Given the description of an element on the screen output the (x, y) to click on. 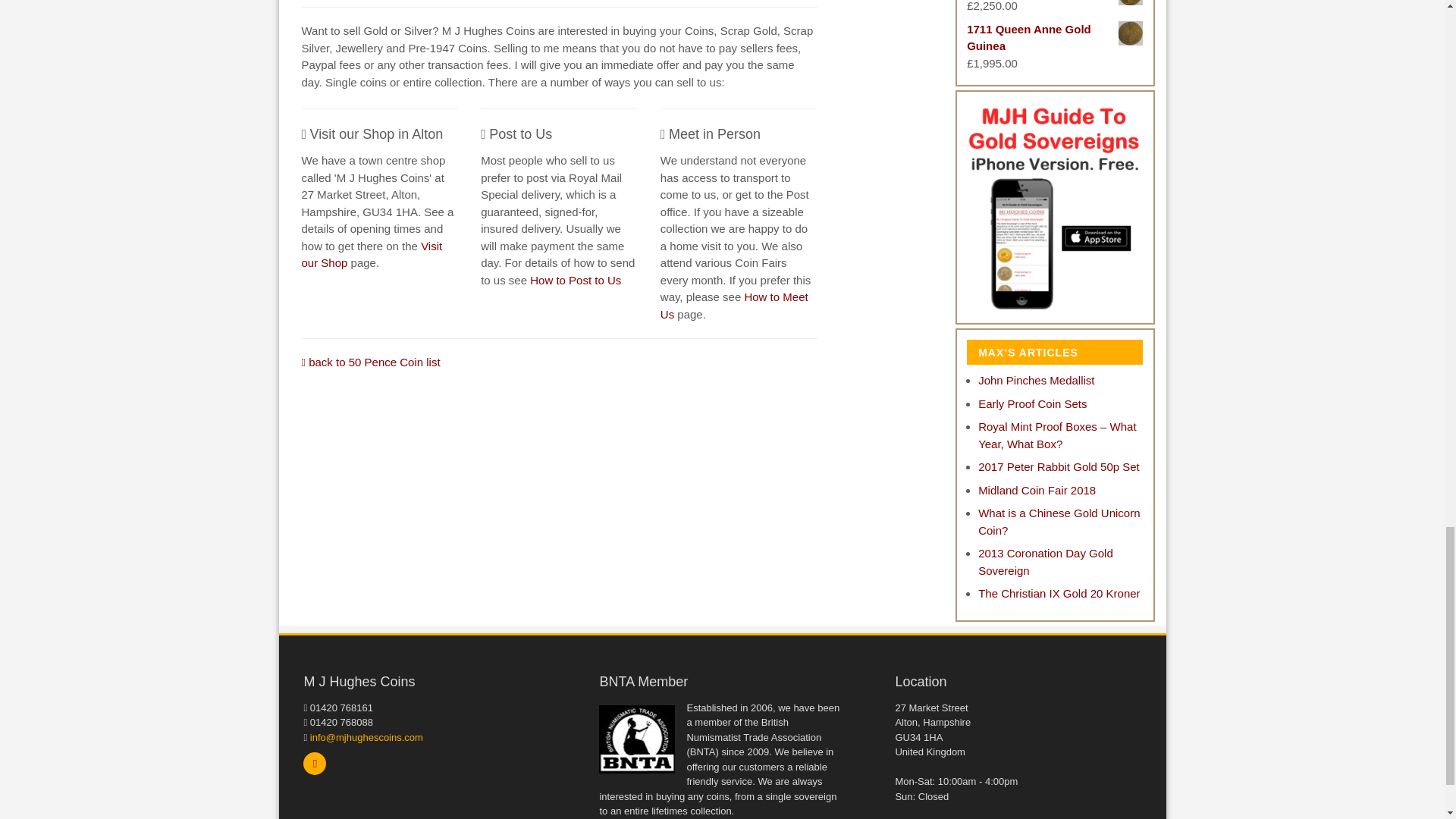
back to 50 Pence Coin list (371, 361)
How to Post to Us (575, 279)
Visit our Shop (371, 254)
How to Meet Us (734, 305)
